Given the description of an element on the screen output the (x, y) to click on. 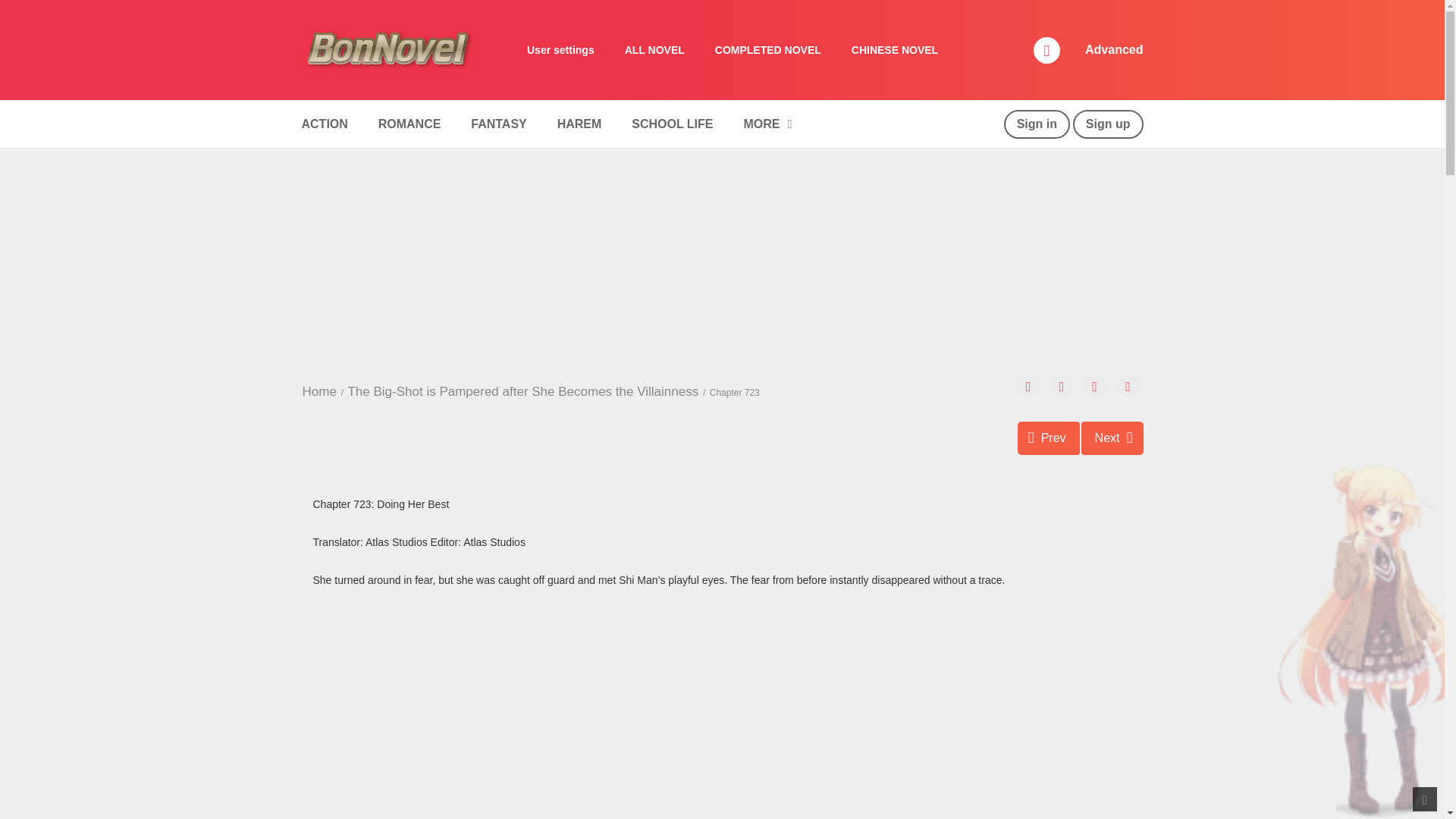
HAREM (579, 124)
Advanced (1113, 49)
User settings (561, 49)
Chapter 724 (1111, 438)
ROMANCE (409, 124)
Chapter 722 (1048, 438)
ALL NOVEL (655, 49)
SCHOOL LIFE (671, 124)
Bookmark (1094, 386)
BonNovel (389, 49)
